Given the description of an element on the screen output the (x, y) to click on. 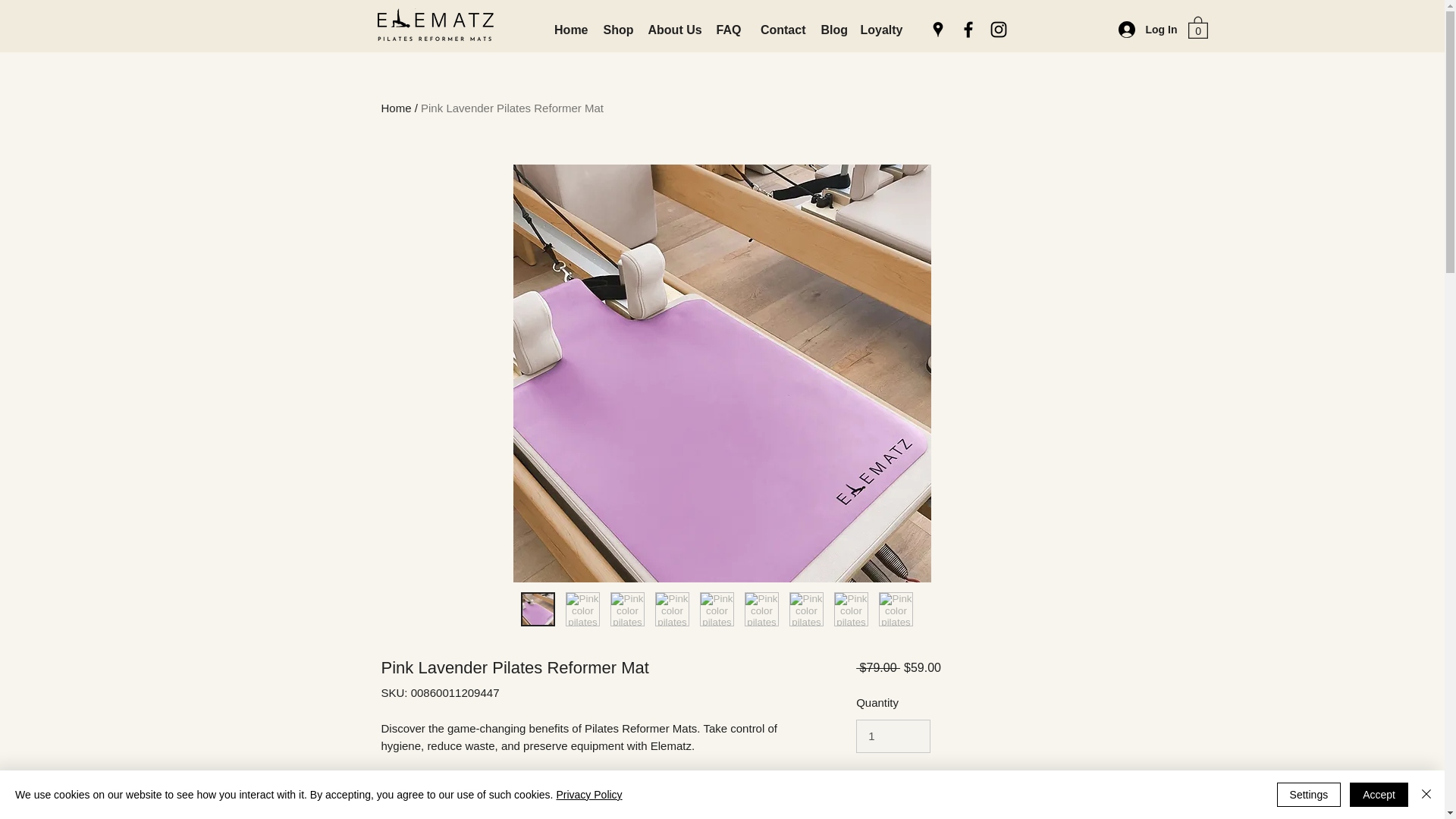
FAQ (727, 29)
Add to Cart (941, 792)
Home (395, 107)
About Us (673, 29)
Loyalty (879, 29)
Log In (1147, 29)
Buy Now (959, 817)
Home (570, 29)
1 (893, 735)
Blog (831, 29)
Contact (780, 29)
Shop (617, 29)
Pink Lavender Pilates Reformer Mat (512, 107)
